Given the description of an element on the screen output the (x, y) to click on. 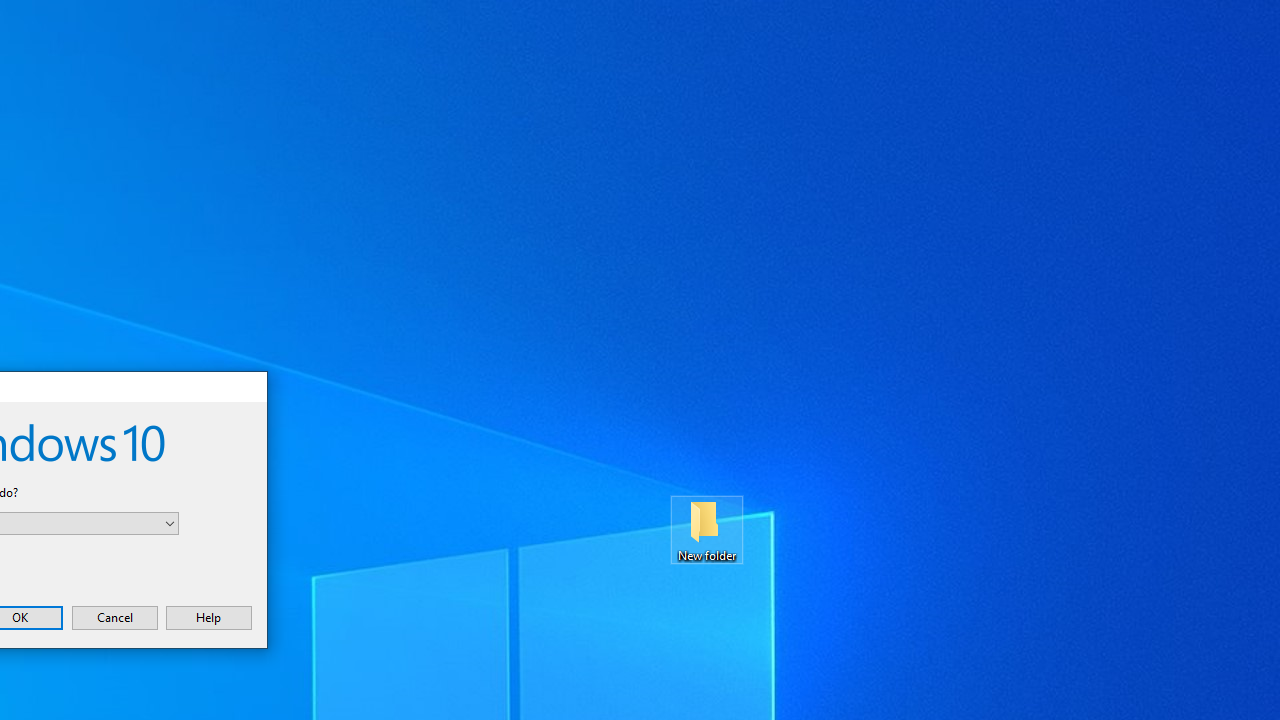
Open (169, 523)
Cancel (114, 617)
